Given the description of an element on the screen output the (x, y) to click on. 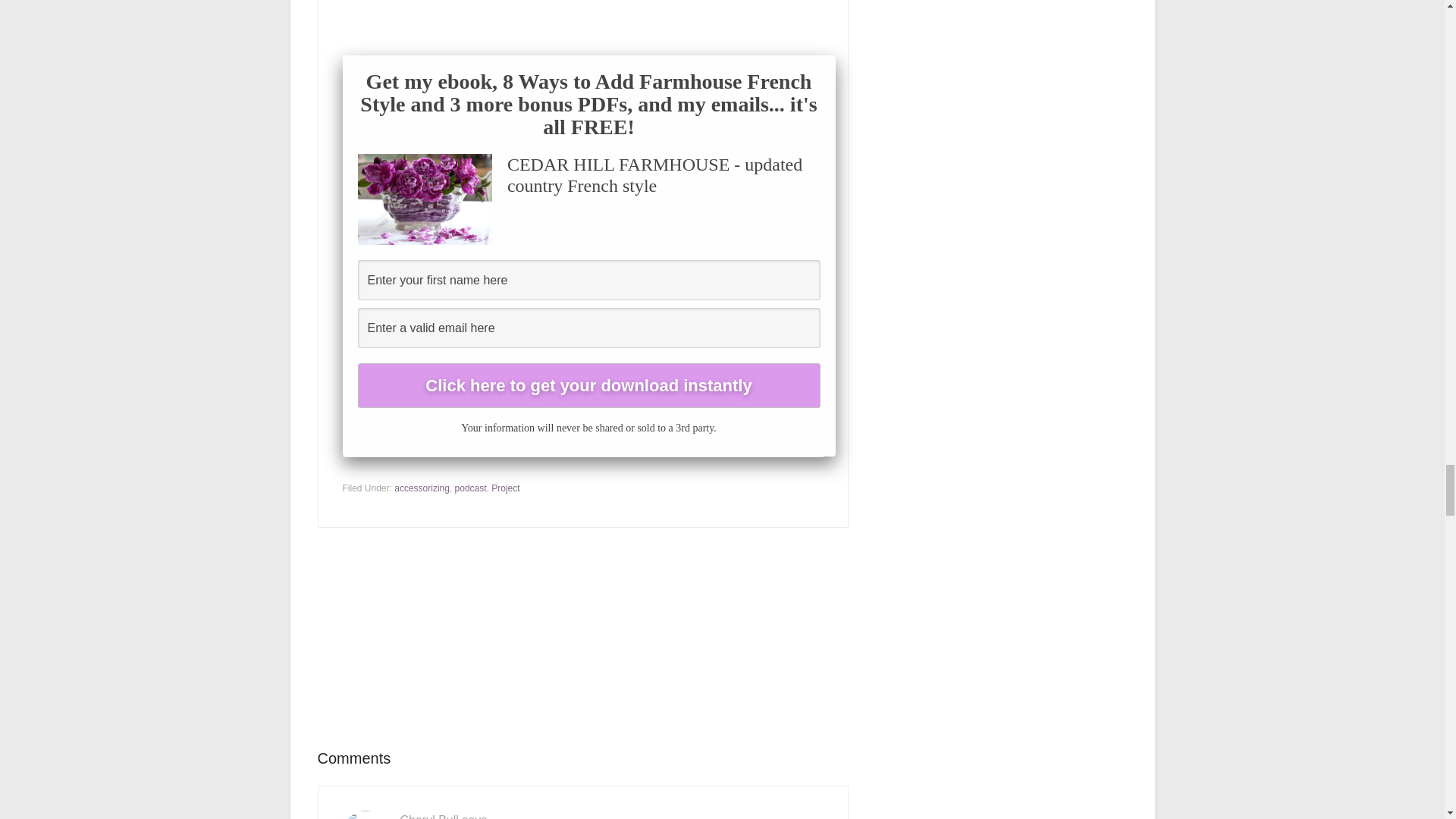
accessorizing (421, 488)
Click here to get your download instantly (589, 385)
Project (505, 488)
Click here to get your download instantly (589, 385)
podcast (470, 488)
